Given the description of an element on the screen output the (x, y) to click on. 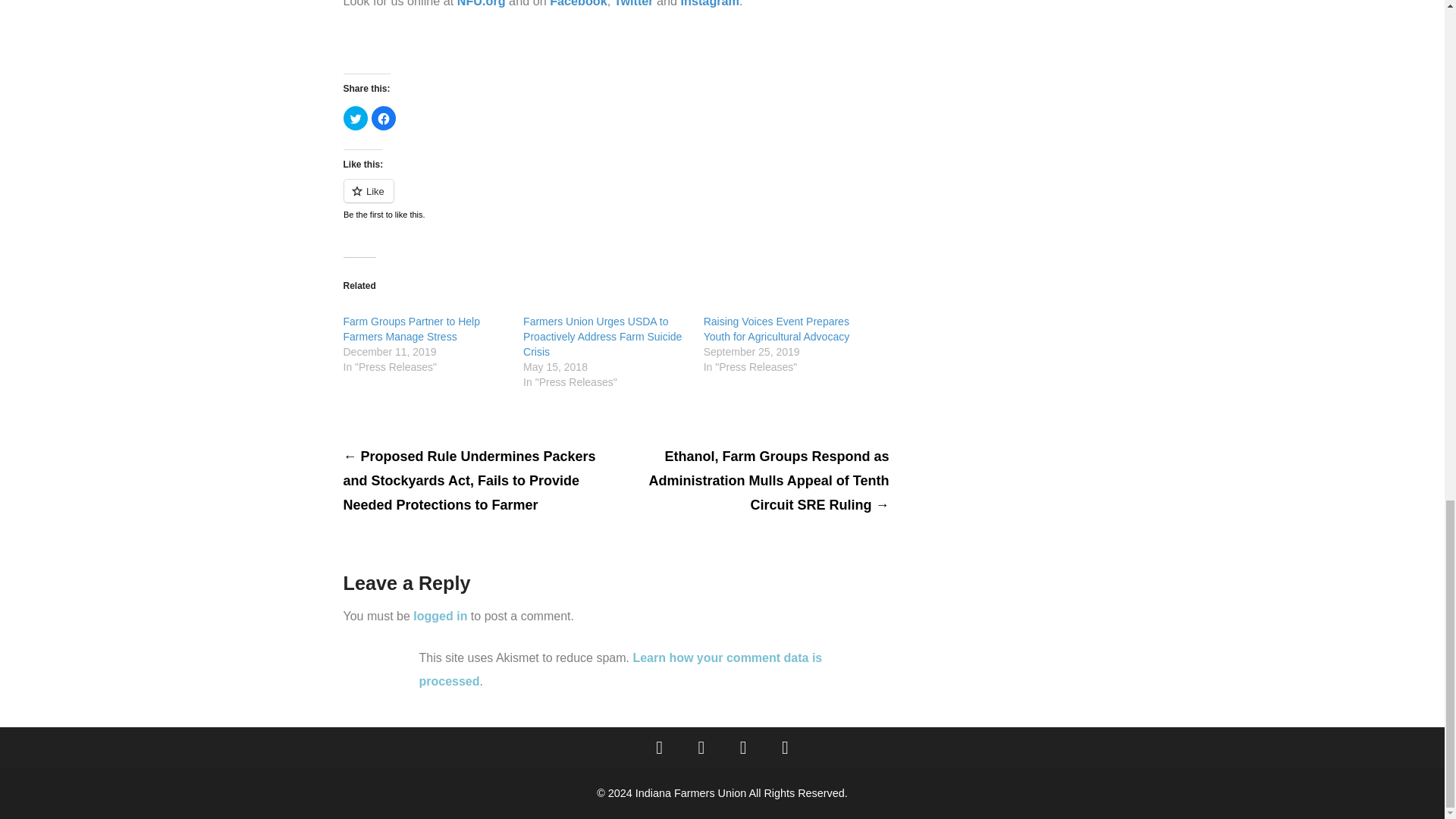
Click to share on Twitter (354, 118)
Farm Groups Partner to Help Farmers Manage Stress (411, 329)
Indiana Farmers Union on Instagram (743, 747)
Click to share on Facebook (383, 118)
Indiana Farmers Union on Youtube (785, 747)
Indiana Farmers Union on Facebook (660, 747)
Indiana Farmers Union on Twitter (700, 747)
